Given the description of an element on the screen output the (x, y) to click on. 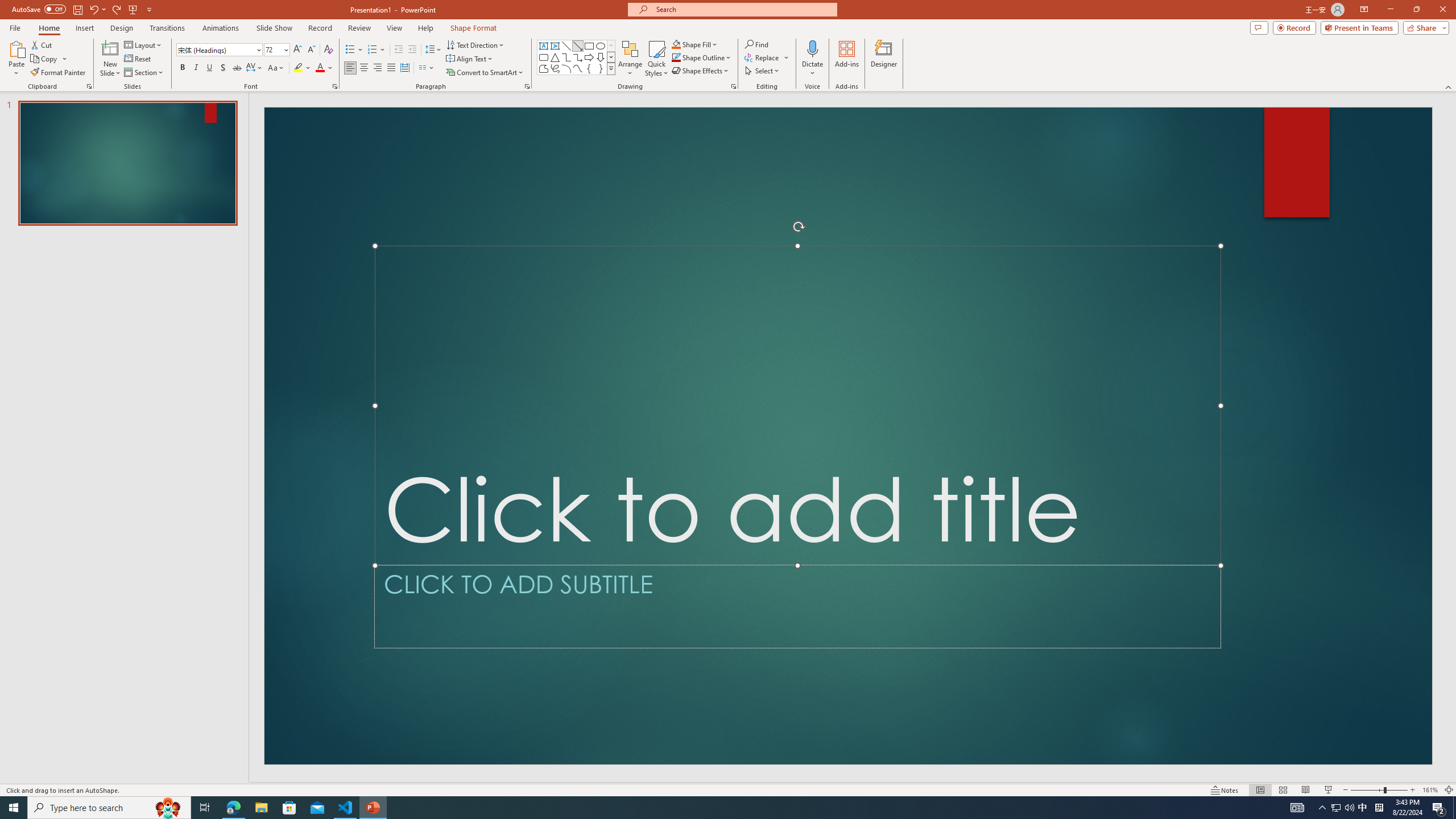
Paste (16, 48)
Shadow (223, 67)
Bold (182, 67)
Paste (16, 58)
Copy (49, 58)
Italic (195, 67)
Bullets (349, 49)
Decrease Font Size (310, 49)
Copy (45, 58)
